Given the description of an element on the screen output the (x, y) to click on. 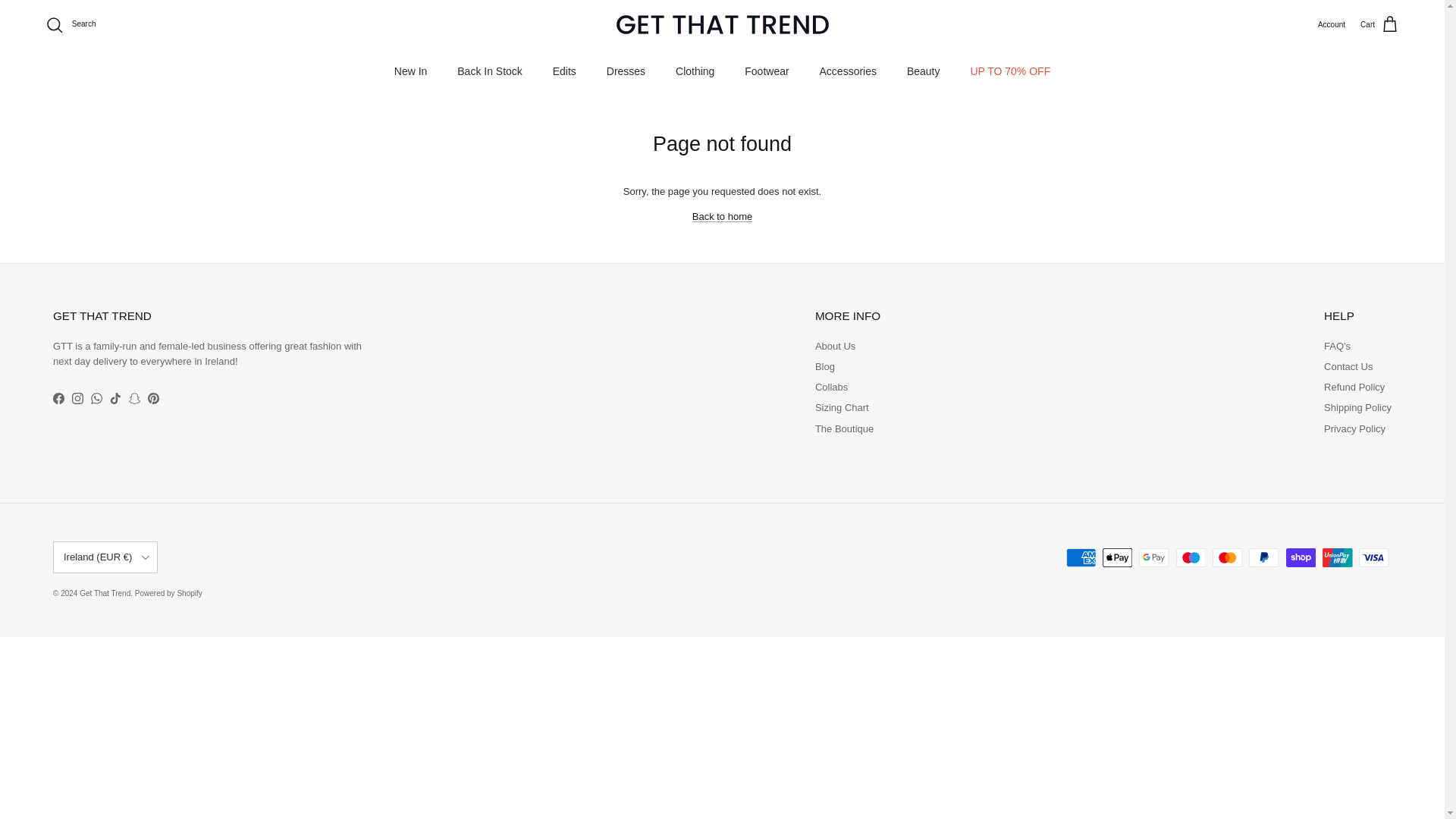
Get That Trend on TikTok (115, 398)
Mastercard (1226, 557)
Get That Trend on Instagram (76, 398)
Union Pay (1337, 557)
Maestro (1190, 557)
Get That Trend (721, 24)
Edits (563, 71)
Cart (1379, 25)
American Express (1080, 557)
Dresses (625, 71)
